Given the description of an element on the screen output the (x, y) to click on. 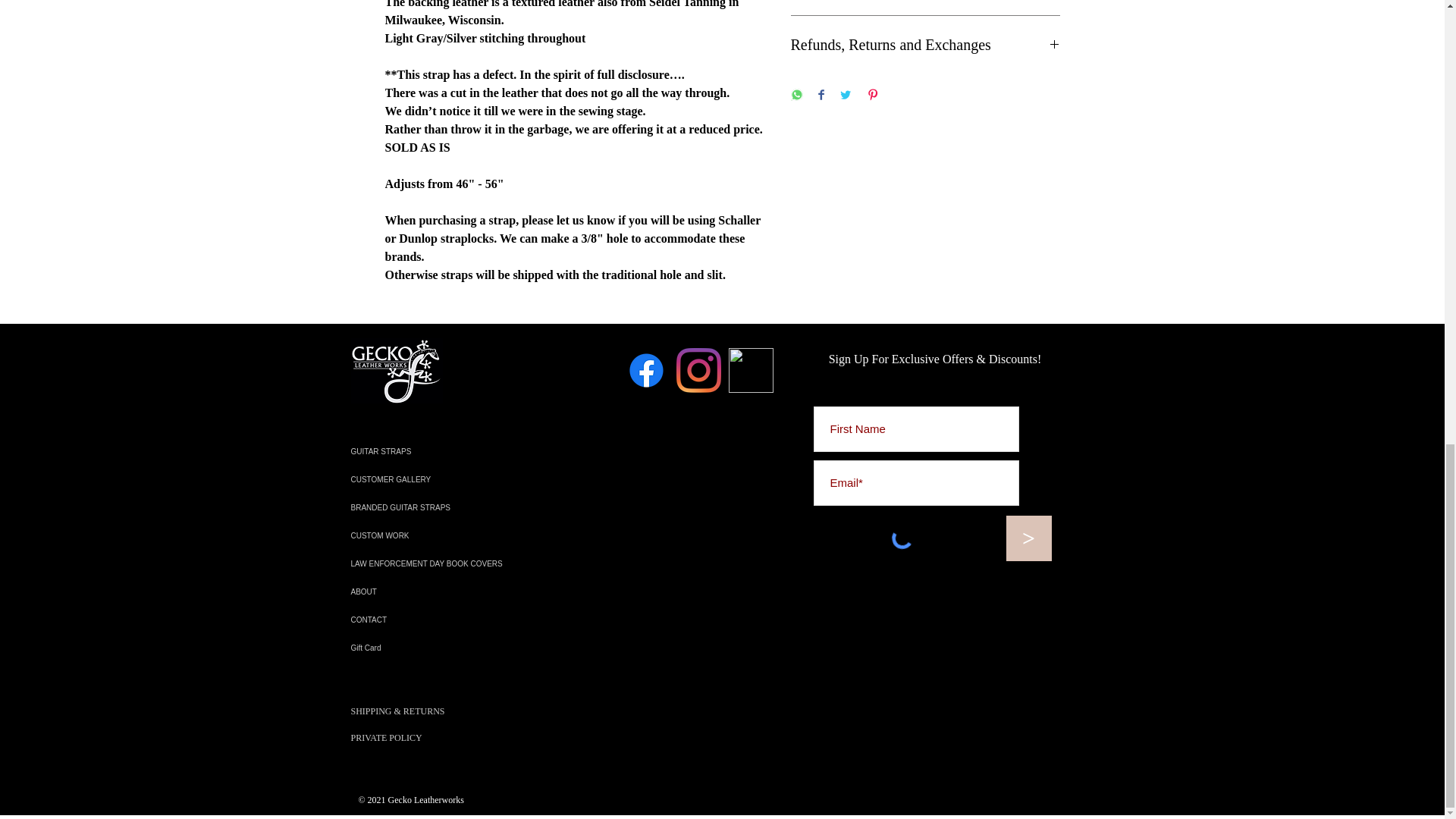
CUSTOMER GALLERY (455, 479)
ABOUT (455, 592)
CUSTOM WORK (455, 535)
LAW ENFORCEMENT DAY BOOK COVERS (455, 563)
BRANDED GUITAR STRAPS (455, 507)
GUITAR STRAPS (455, 451)
Refunds, Returns and Exchanges (924, 44)
CONTACT (455, 619)
